Given the description of an element on the screen output the (x, y) to click on. 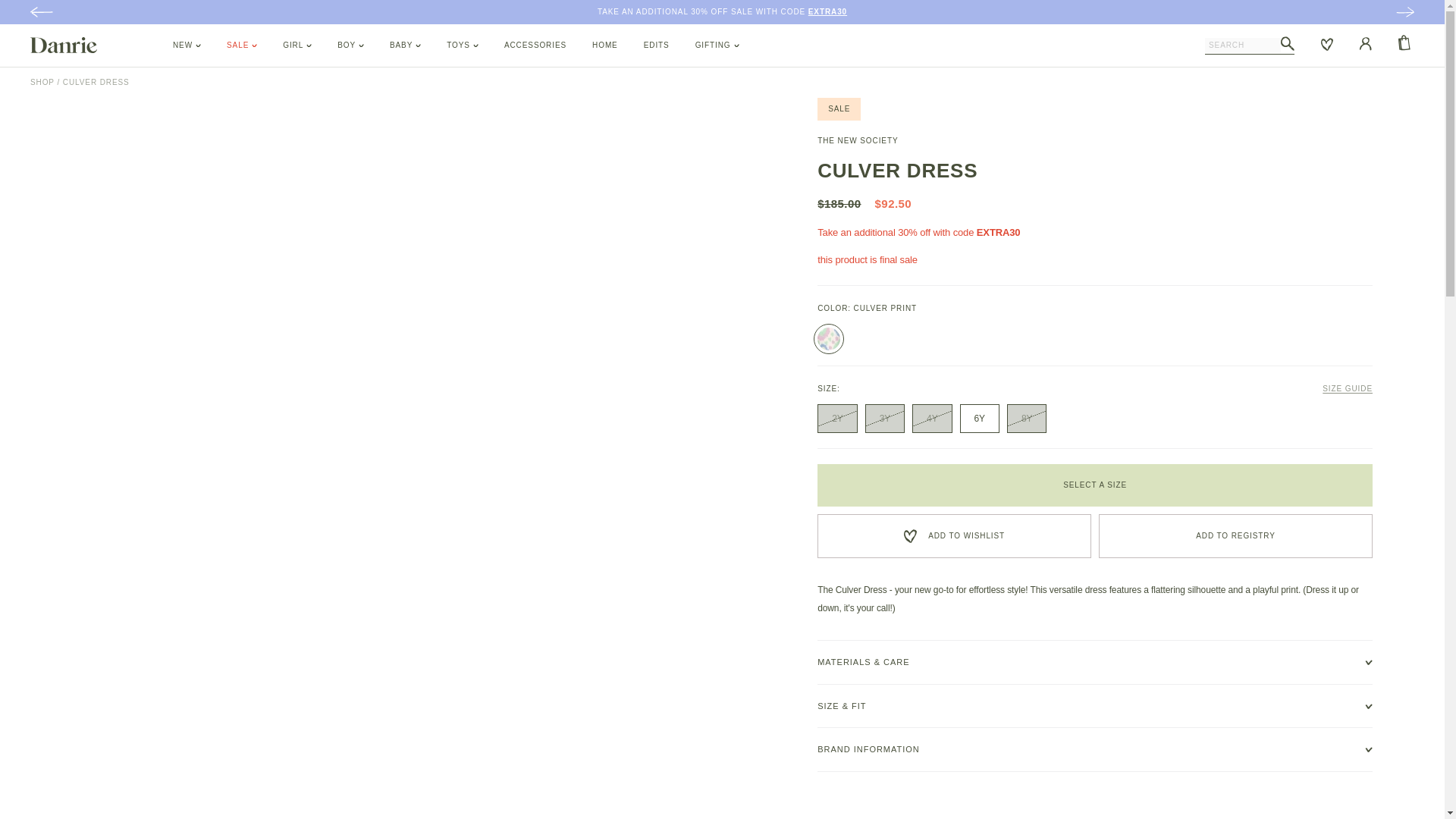
SKIP TO CONTENT (45, 13)
EXTRA30 (827, 11)
